Given the description of an element on the screen output the (x, y) to click on. 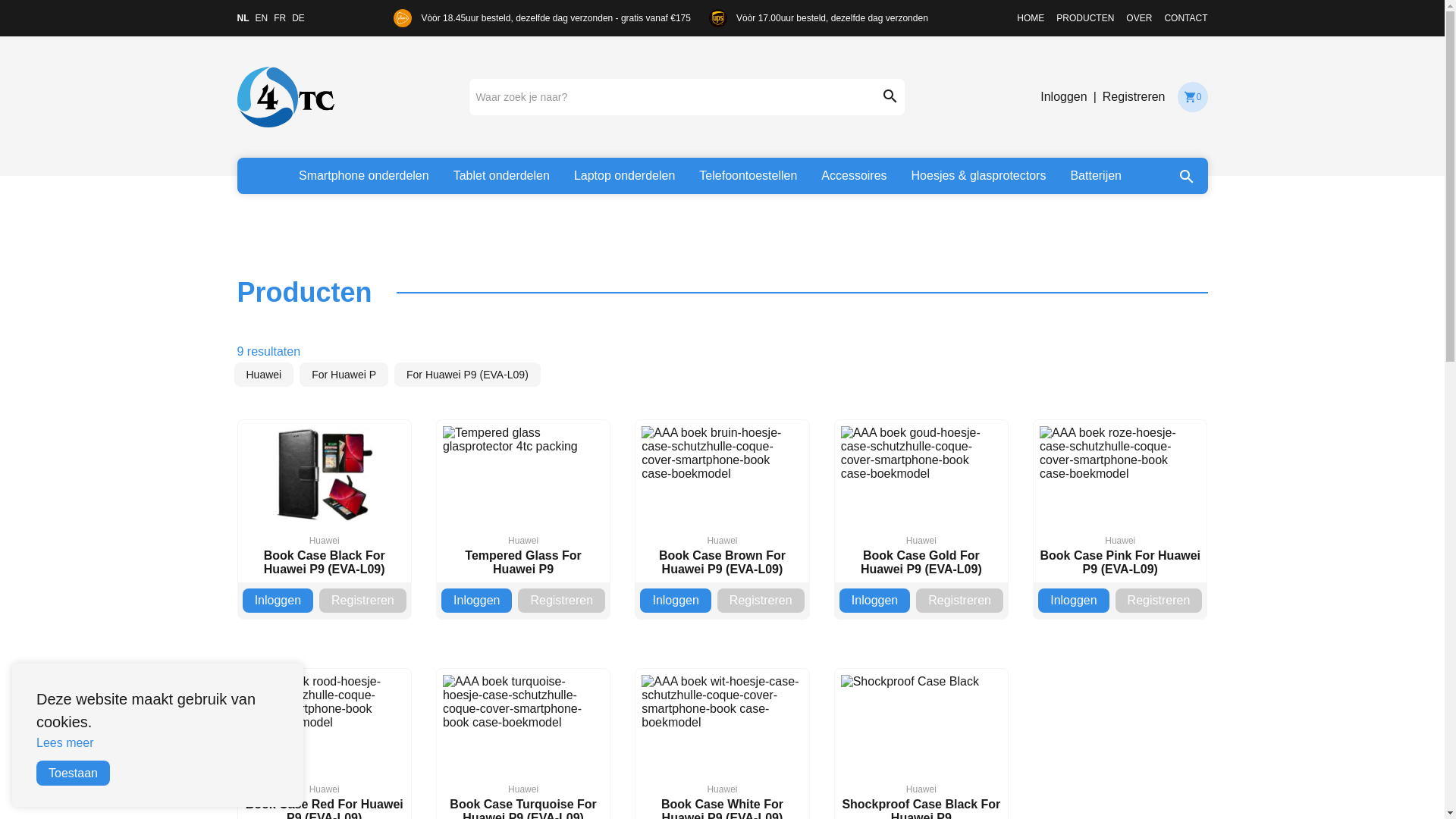
Hoesjes & glasprotectors Element type: text (978, 175)
OVER Element type: text (1138, 17)
PRODUCTEN Element type: text (1084, 17)
Inloggen Element type: text (1063, 96)
Lees meer Element type: text (65, 742)
Registreren Element type: text (959, 600)
Huawei
Book Case Black For Huawei P9 (EVA-L09) Element type: text (324, 501)
Smartphone onderdelen Element type: text (363, 175)
Registreren Element type: text (561, 600)
EN Element type: text (260, 17)
Registreren Element type: text (760, 600)
Huawei
Book Case Brown For Huawei P9 (EVA-L09) Element type: text (721, 501)
HOME Element type: text (1030, 17)
Registreren Element type: text (362, 600)
Registreren Element type: text (1158, 600)
Inloggen Element type: text (675, 600)
Telefoontoestellen Element type: text (748, 175)
Batterijen Element type: text (1095, 175)
Registreren Element type: text (1133, 96)
Accessoires Element type: text (853, 175)
CONTACT Element type: text (1185, 17)
NL Element type: text (242, 17)
Huawei
Tempered Glass For Huawei P9 Element type: text (522, 501)
Inloggen Element type: text (476, 600)
Inloggen Element type: text (277, 600)
Huawei Element type: text (263, 374)
For Huawei P9 (EVA-L09) Element type: text (467, 374)
Toestaan Element type: text (72, 772)
Home Element type: hover (284, 96)
Huawei
Book Case Pink For Huawei P9 (EVA-L09) Element type: text (1119, 501)
Inloggen Element type: text (1073, 600)
FR Element type: text (279, 17)
For Huawei P Element type: text (343, 374)
Inloggen Element type: text (874, 600)
Tablet onderdelen Element type: text (501, 175)
Laptop onderdelen Element type: text (624, 175)
Huawei
Book Case Gold For Huawei P9 (EVA-L09) Element type: text (920, 501)
DE Element type: text (297, 17)
